Given the description of an element on the screen output the (x, y) to click on. 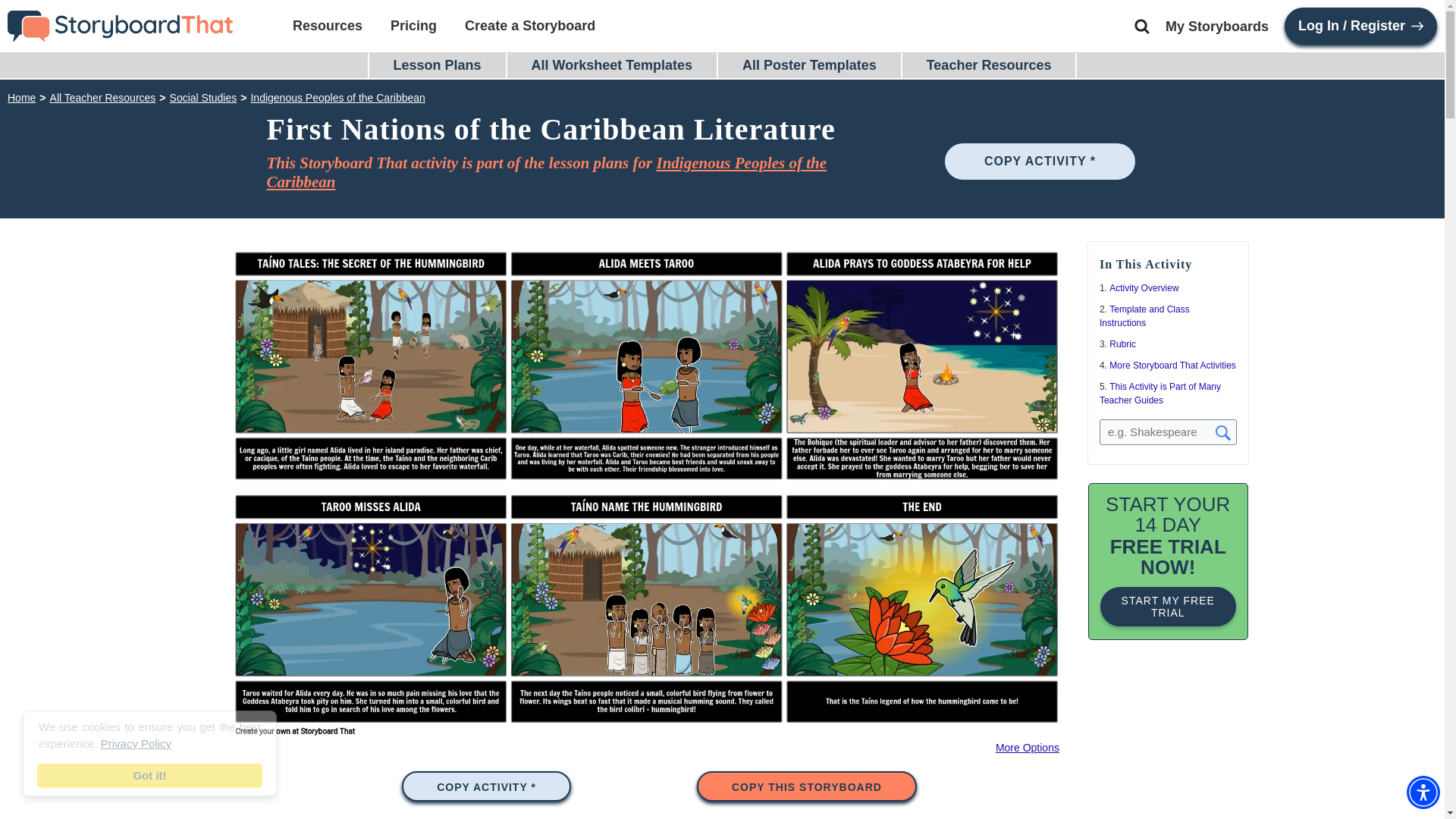
Indigenous Peoples of the Caribbean (546, 171)
All Teacher Resources (102, 97)
More Storyboard That Activities (1172, 365)
Search (1142, 26)
Social Studies (203, 97)
Home (20, 97)
Storyboard That (119, 24)
Accessibility Menu (1422, 792)
Teacher Resources (988, 64)
All Worksheet Templates (612, 64)
COPY THIS STORYBOARD (807, 786)
Pricing (413, 25)
This Activity is Part of Many Teacher Guides (1160, 393)
Activity Overview (1143, 287)
Lesson Plans (437, 64)
